Given the description of an element on the screen output the (x, y) to click on. 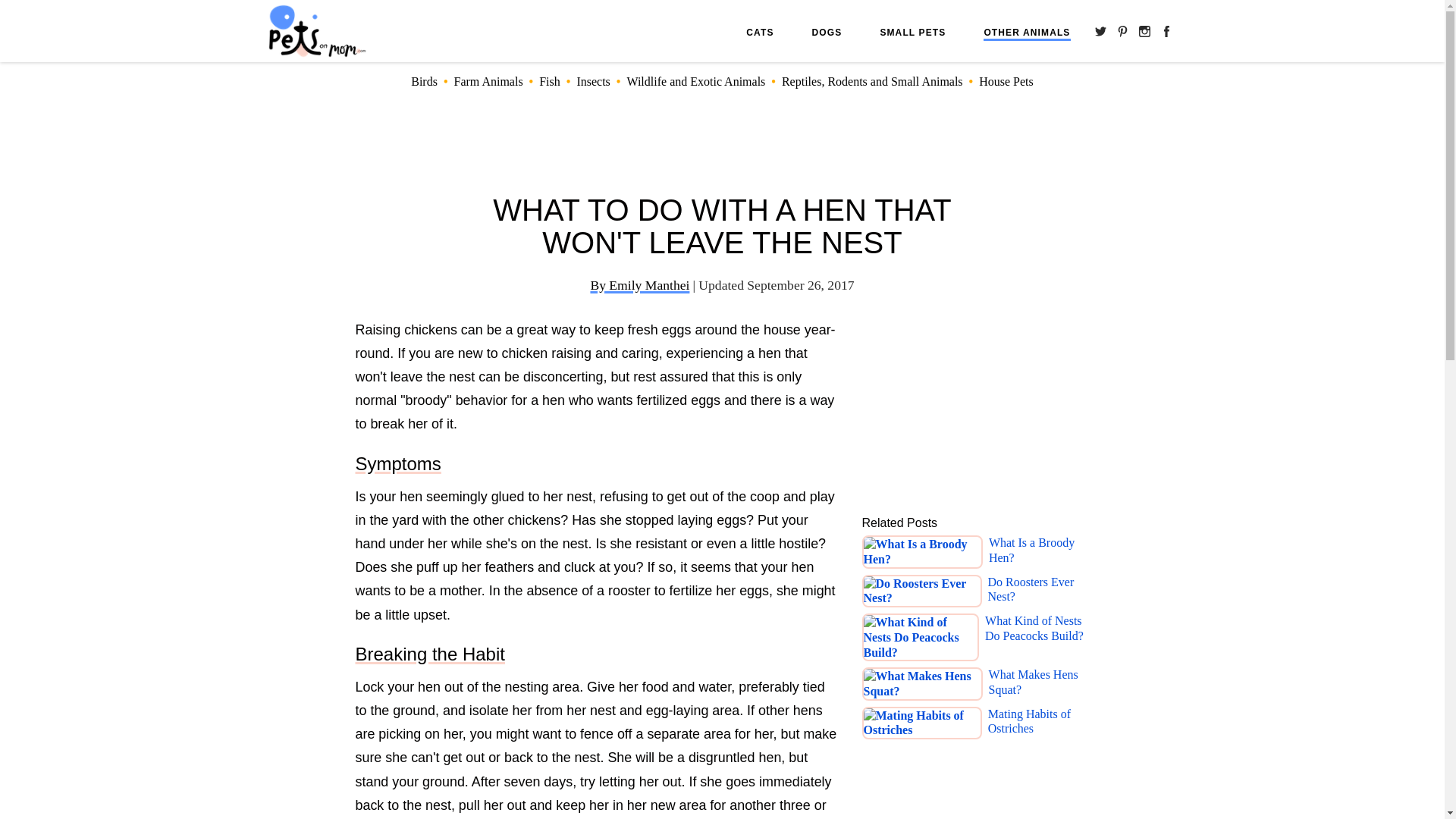
House Pets (1005, 81)
Birds (424, 81)
Fish (549, 81)
CATS (759, 32)
DOGS (827, 32)
Farm Animals (487, 81)
SMALL PETS (911, 32)
Do Roosters Ever Nest? (1038, 590)
Reptiles, Rodents and Small Animals (871, 81)
OTHER ANIMALS (1027, 33)
What Is a Broody Hen? (1038, 551)
Insects (593, 81)
Wildlife and Exotic Animals (695, 81)
